Given the description of an element on the screen output the (x, y) to click on. 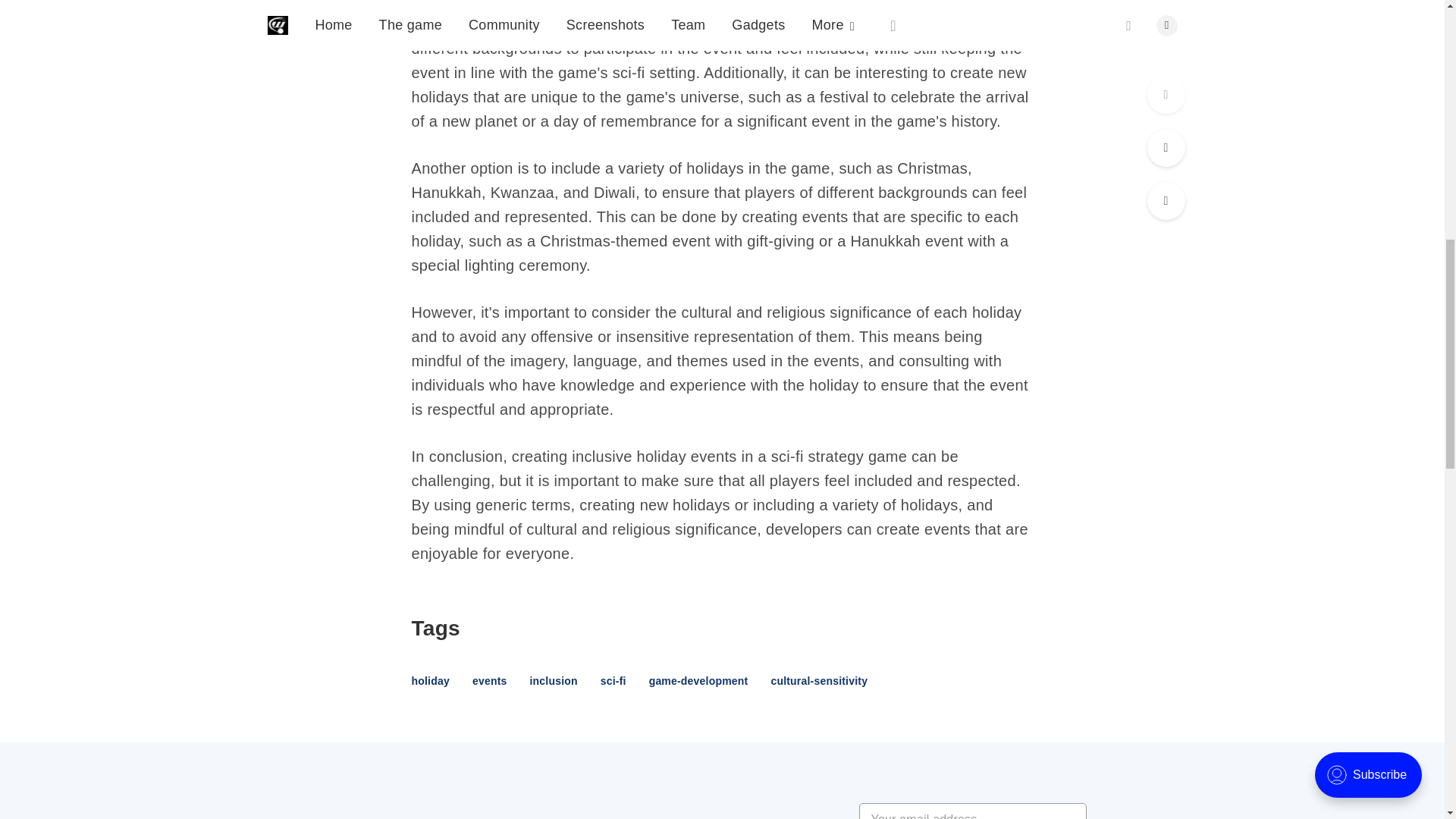
game-development (698, 680)
inclusion (552, 680)
sci-fi (612, 680)
cultural-sensitivity (818, 680)
holiday (429, 680)
events (488, 680)
